Given the description of an element on the screen output the (x, y) to click on. 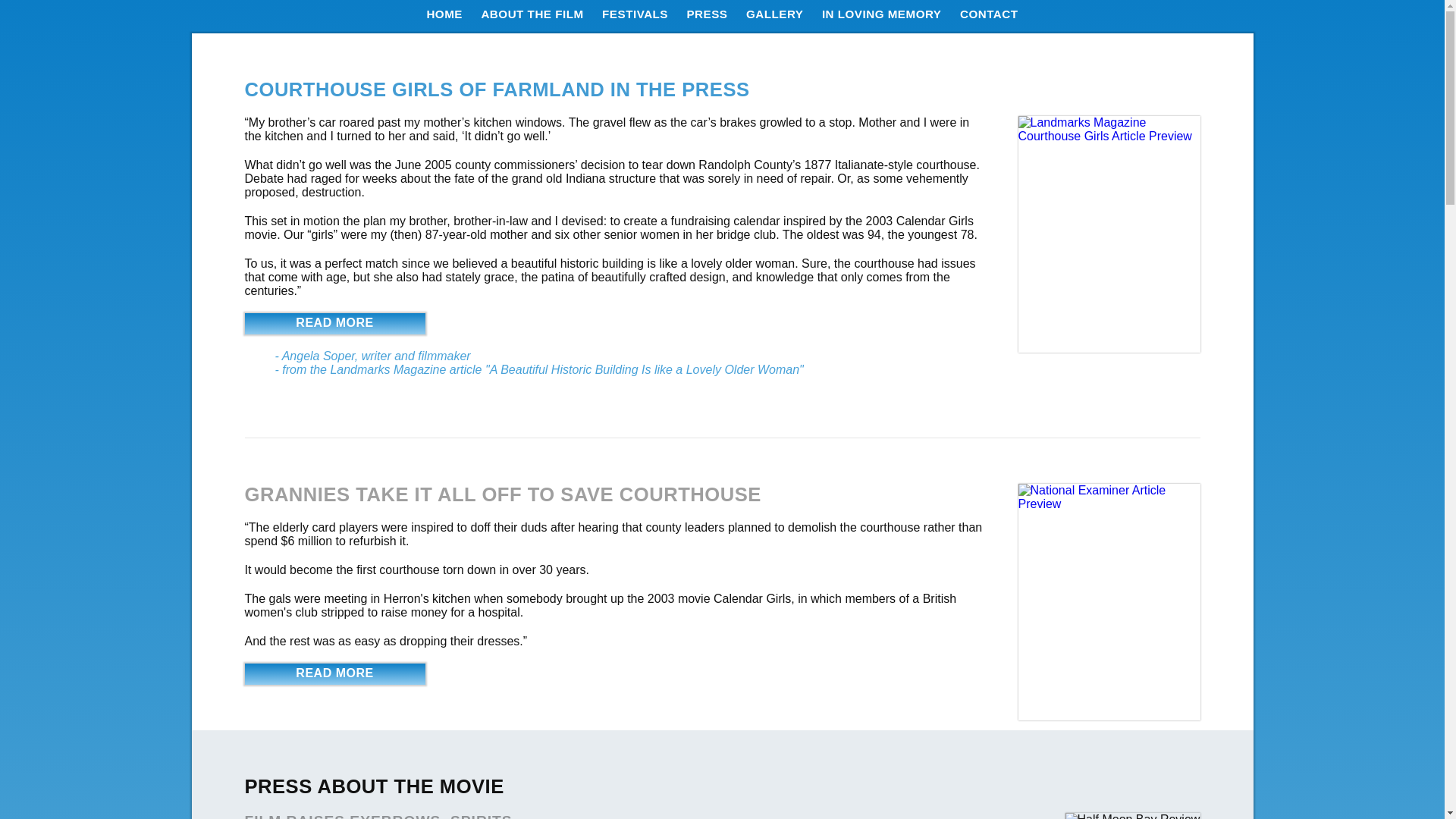
PRESS (705, 13)
IN LOVING MEMORY (882, 13)
HOME (444, 13)
ABOUT THE FILM (531, 13)
CONTACT (988, 13)
READ MORE (334, 673)
FESTIVALS (635, 13)
GALLERY (774, 13)
READ MORE (334, 323)
